Given the description of an element on the screen output the (x, y) to click on. 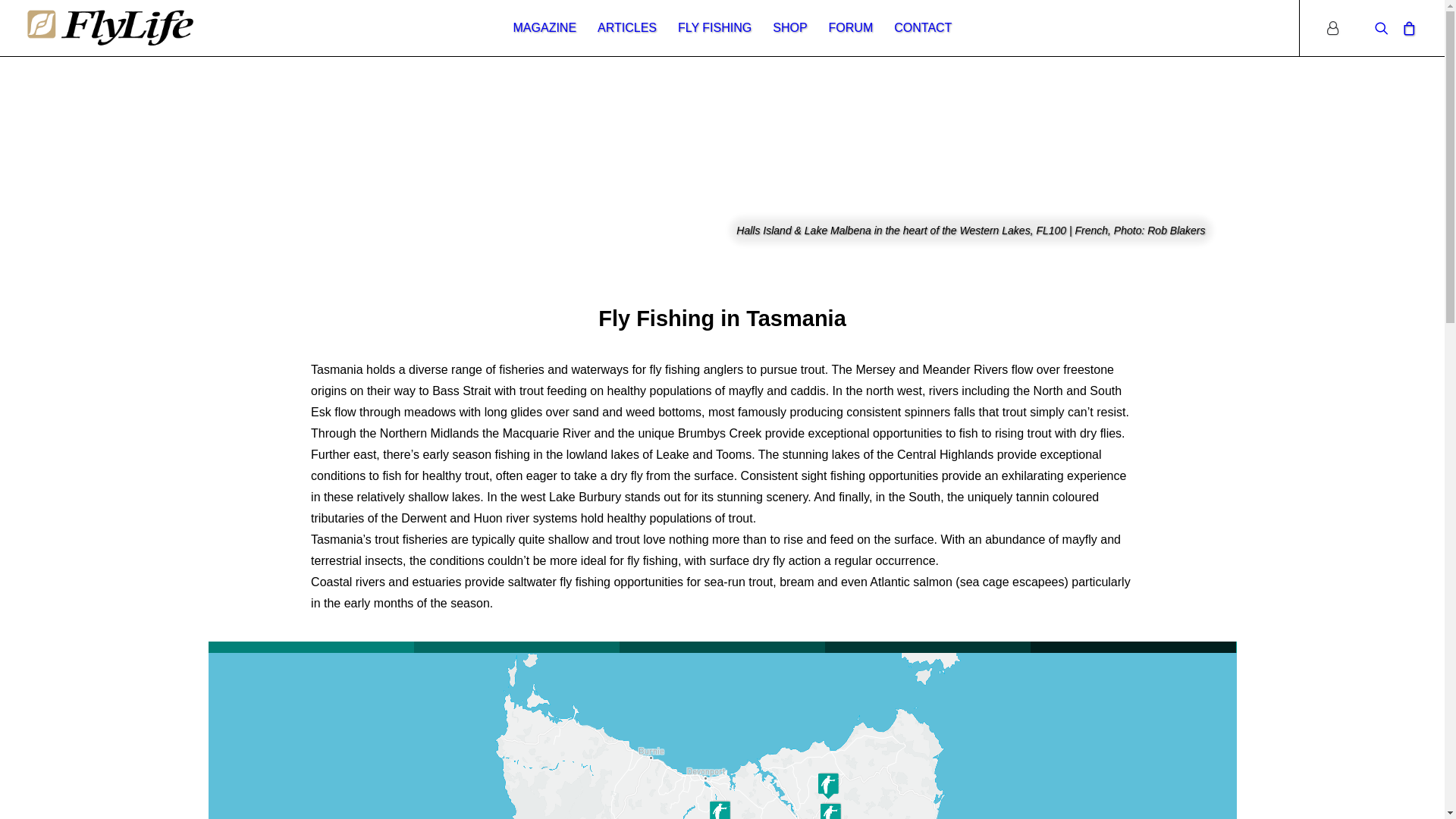
ARTICLES Element type: text (626, 28)
CONTACT Element type: text (922, 28)
SHOP Element type: text (789, 28)
cart Element type: hover (1406, 28)
FLY FISHING Element type: text (714, 28)
MAGAZINE Element type: text (544, 28)
MY ACCOUNT Element type: text (1337, 28)
FORUM Element type: text (851, 28)
